Given the description of an element on the screen output the (x, y) to click on. 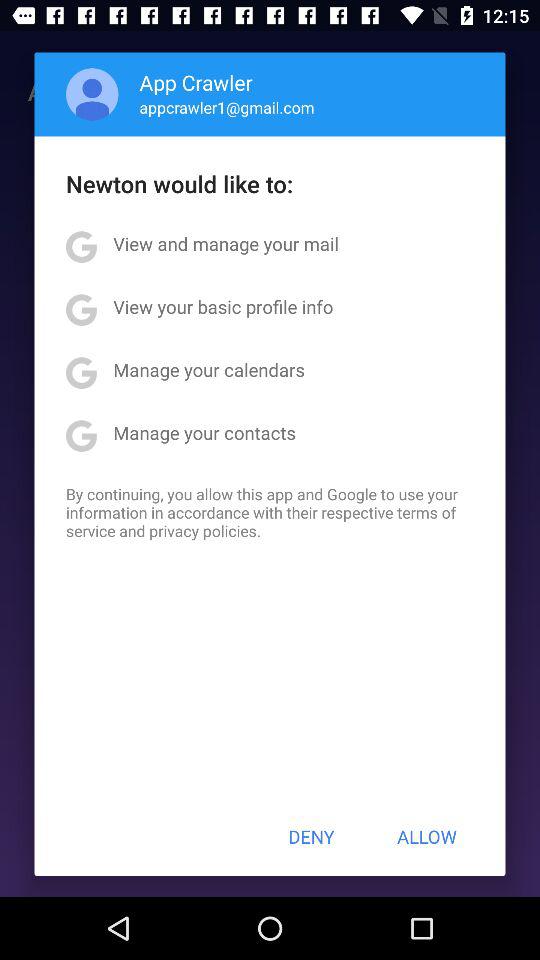
press icon below by continuing you app (311, 836)
